Given the description of an element on the screen output the (x, y) to click on. 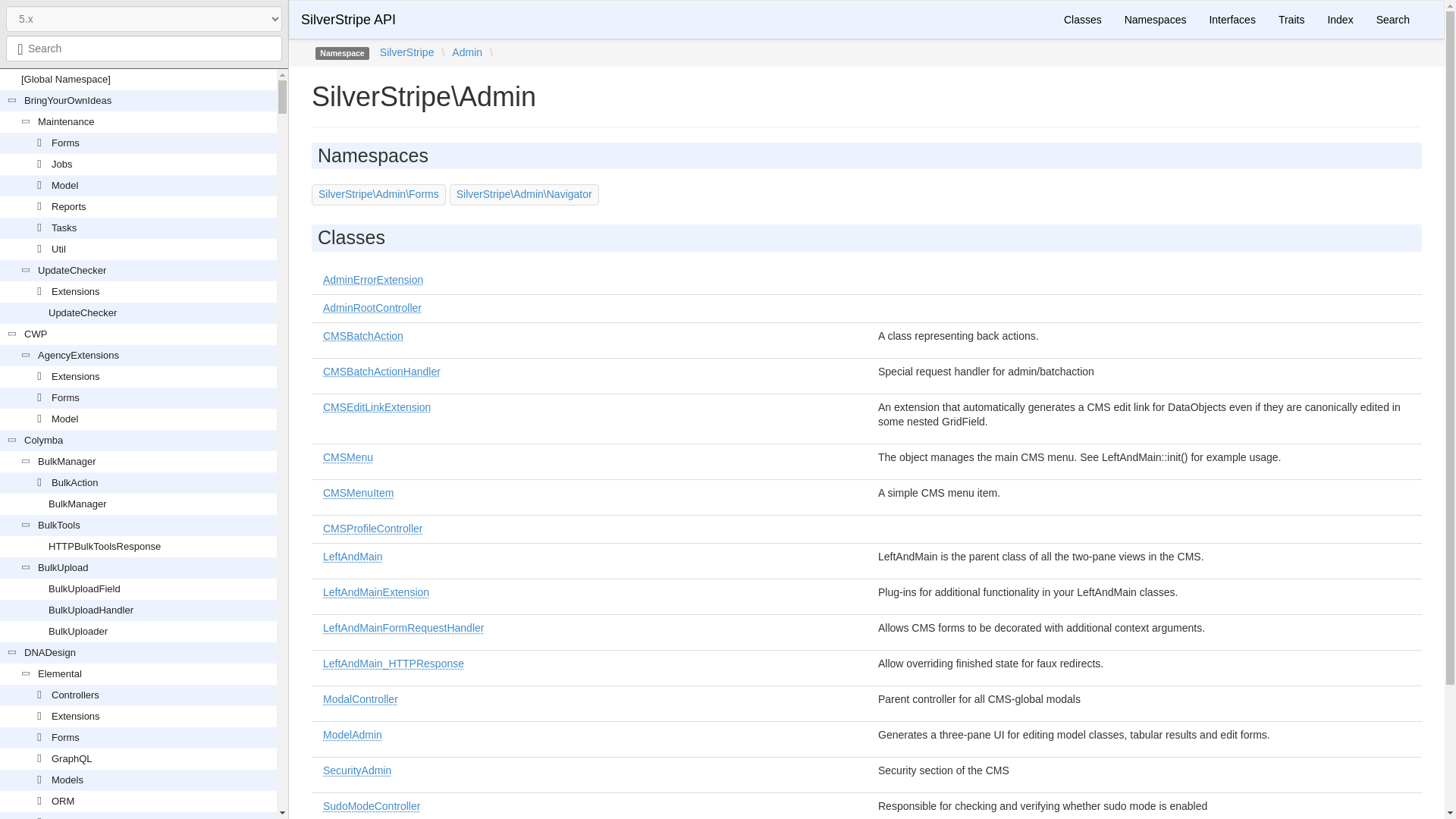
Extensions (75, 376)
Model (64, 419)
Maintenance (65, 121)
BulkManager (66, 460)
Colymba (43, 439)
Forms (65, 142)
Extensions (75, 291)
Forms (65, 397)
AgencyExtensions (78, 355)
Model (64, 184)
